Given the description of an element on the screen output the (x, y) to click on. 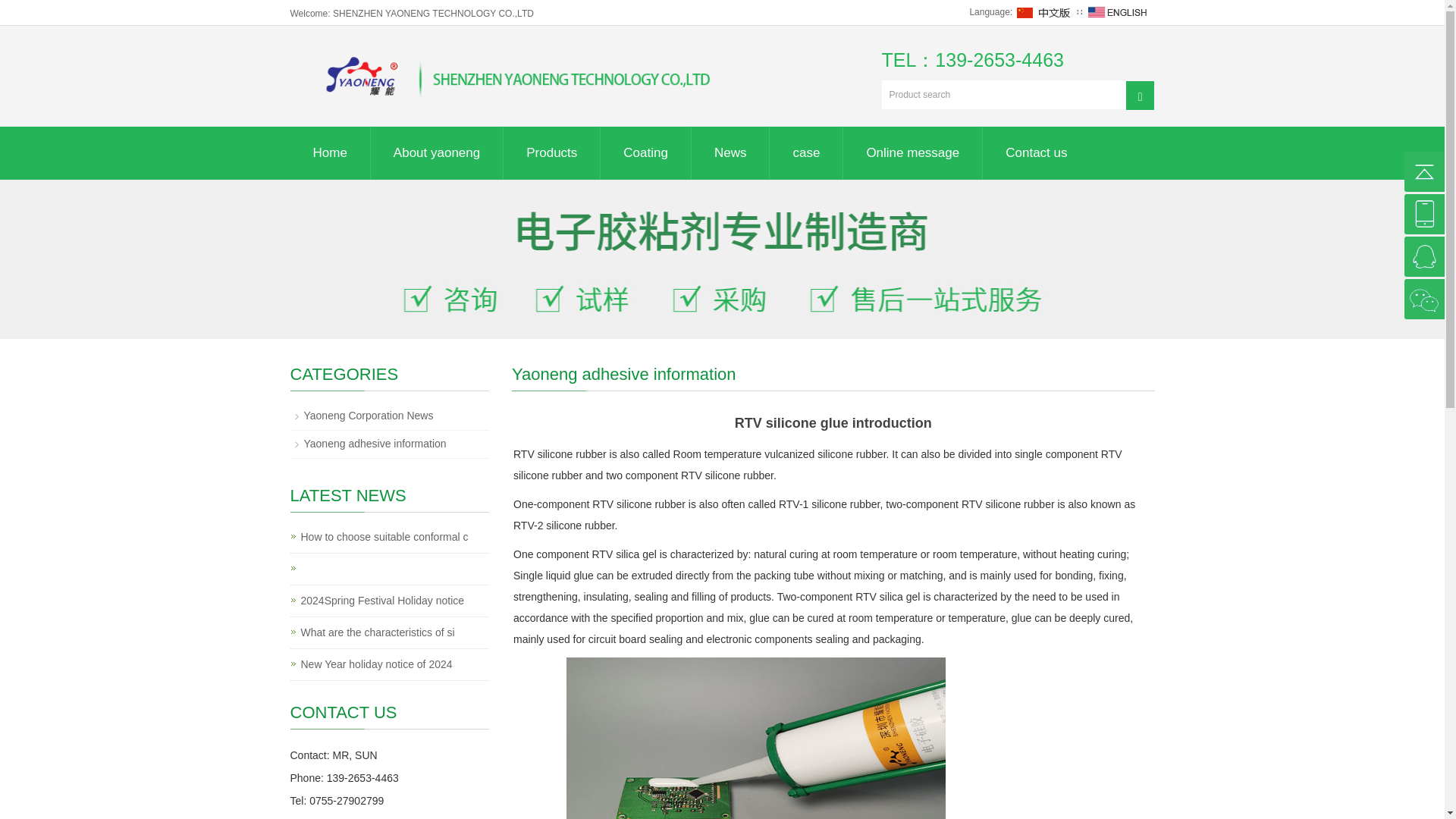
Home (329, 152)
Products (551, 152)
case (806, 152)
2024Spring Festival Holiday notice (381, 600)
News (730, 152)
English (1117, 11)
About yaoneng (436, 152)
Chinese (1044, 11)
Product search (1139, 94)
Coating (644, 152)
How to choose suitable conformal coating for circuit board? (383, 537)
New Year holiday notice of 2024 (375, 664)
What are the characteristics of silicone conformal coating? (376, 632)
